Given the description of an element on the screen output the (x, y) to click on. 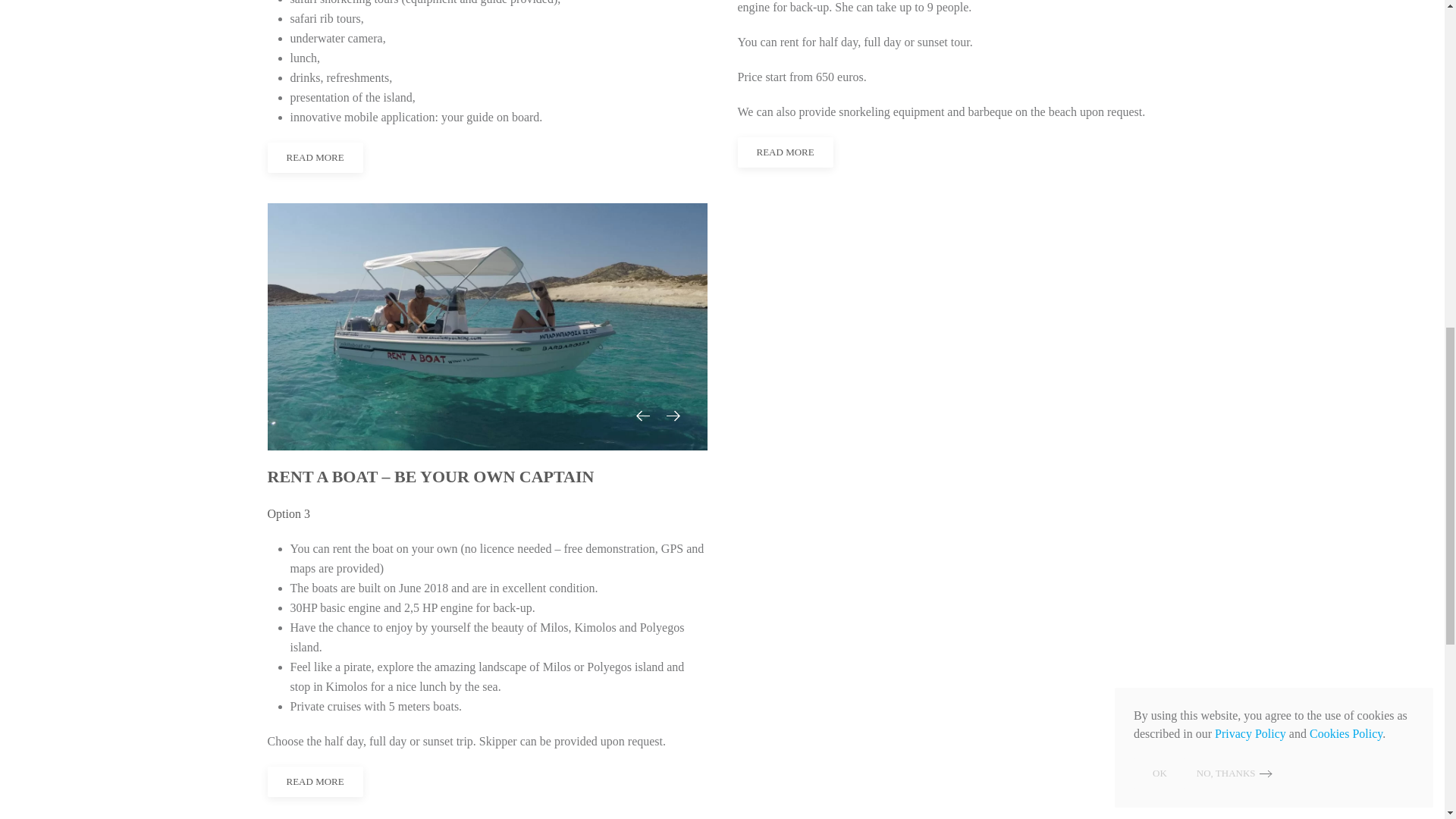
READ MORE (784, 152)
READ MORE (314, 781)
READ MORE (314, 157)
